Given the description of an element on the screen output the (x, y) to click on. 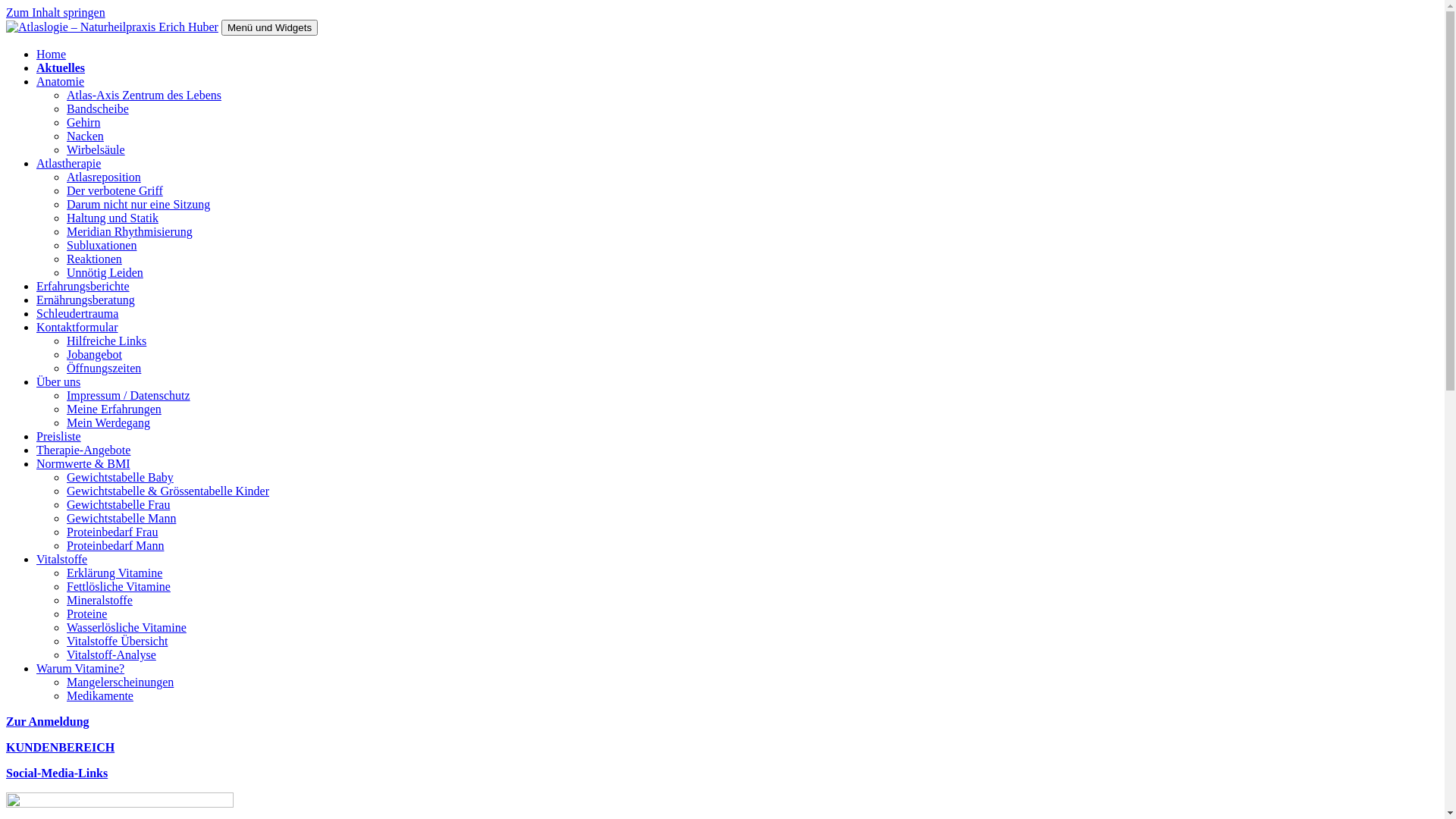
Therapie-Angebote Element type: text (83, 449)
Kontaktformular Element type: text (77, 326)
Normwerte & BMI Element type: text (83, 463)
Gewichtstabelle Frau Element type: text (117, 504)
Der verbotene Griff Element type: text (114, 190)
Darum nicht nur eine Sitzung Element type: text (138, 203)
Proteinbedarf Frau Element type: text (111, 531)
Proteinbedarf Mann Element type: text (114, 545)
Atlastherapie Element type: text (68, 162)
Mein Werdegang Element type: text (108, 422)
Meridian Rhythmisierung Element type: text (129, 231)
Home Element type: text (50, 53)
Proteine Element type: text (86, 613)
Jobangebot Element type: text (94, 354)
Social-Media-Links Element type: text (56, 772)
Meine Erfahrungen Element type: text (113, 408)
Impressum / Datenschutz Element type: text (128, 395)
Anatomie Element type: text (60, 81)
Zum Inhalt springen Element type: text (55, 12)
Haltung und Statik Element type: text (112, 217)
KUNDENBEREICH Element type: text (60, 746)
Vitalstoff-Analyse Element type: text (111, 654)
Subluxationen Element type: text (101, 244)
Mineralstoffe Element type: text (99, 599)
Atlas-Axis Zentrum des Lebens Element type: text (143, 94)
Zur Anmeldung Element type: text (47, 721)
Vitalstoffe Element type: text (61, 558)
Medikamente Element type: text (99, 695)
Gewichtstabelle Mann Element type: text (120, 517)
Hilfreiche Links Element type: text (106, 340)
Gewichtstabelle Baby Element type: text (119, 476)
Bandscheibe Element type: text (97, 108)
Preisliste Element type: text (58, 435)
Atlasreposition Element type: text (103, 176)
Nacken Element type: text (84, 135)
Reaktionen Element type: text (94, 258)
Schleudertrauma Element type: text (77, 313)
Gehirn Element type: text (83, 122)
Warum Vitamine? Element type: text (80, 668)
Mangelerscheinungen Element type: text (119, 681)
Erfahrungsberichte Element type: text (82, 285)
Aktuelles Element type: text (60, 67)
